Given the description of an element on the screen output the (x, y) to click on. 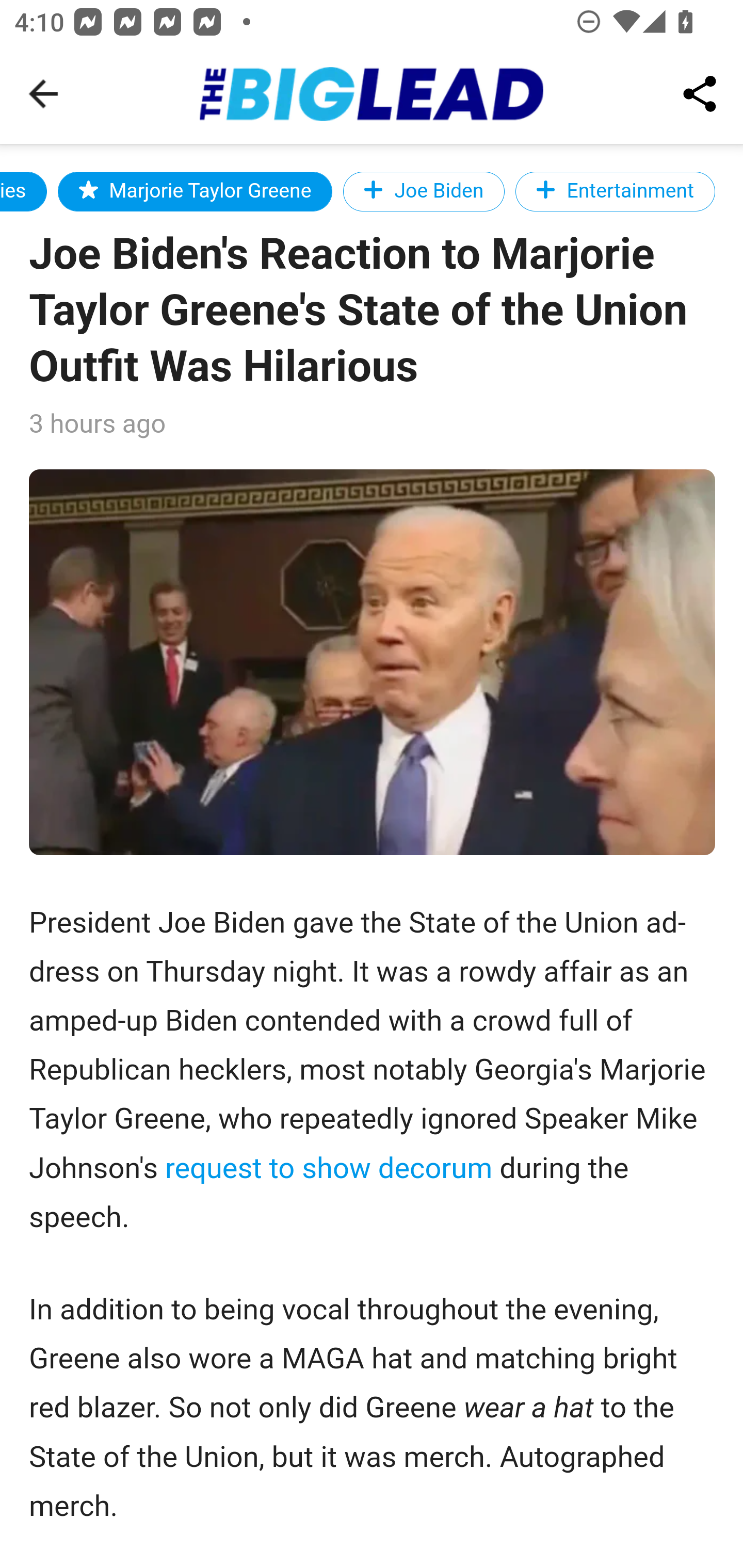
Marjorie Taylor Greene (195, 191)
Joe Biden (424, 191)
Entertainment (615, 191)
request to show decorum (328, 1167)
